Given the description of an element on the screen output the (x, y) to click on. 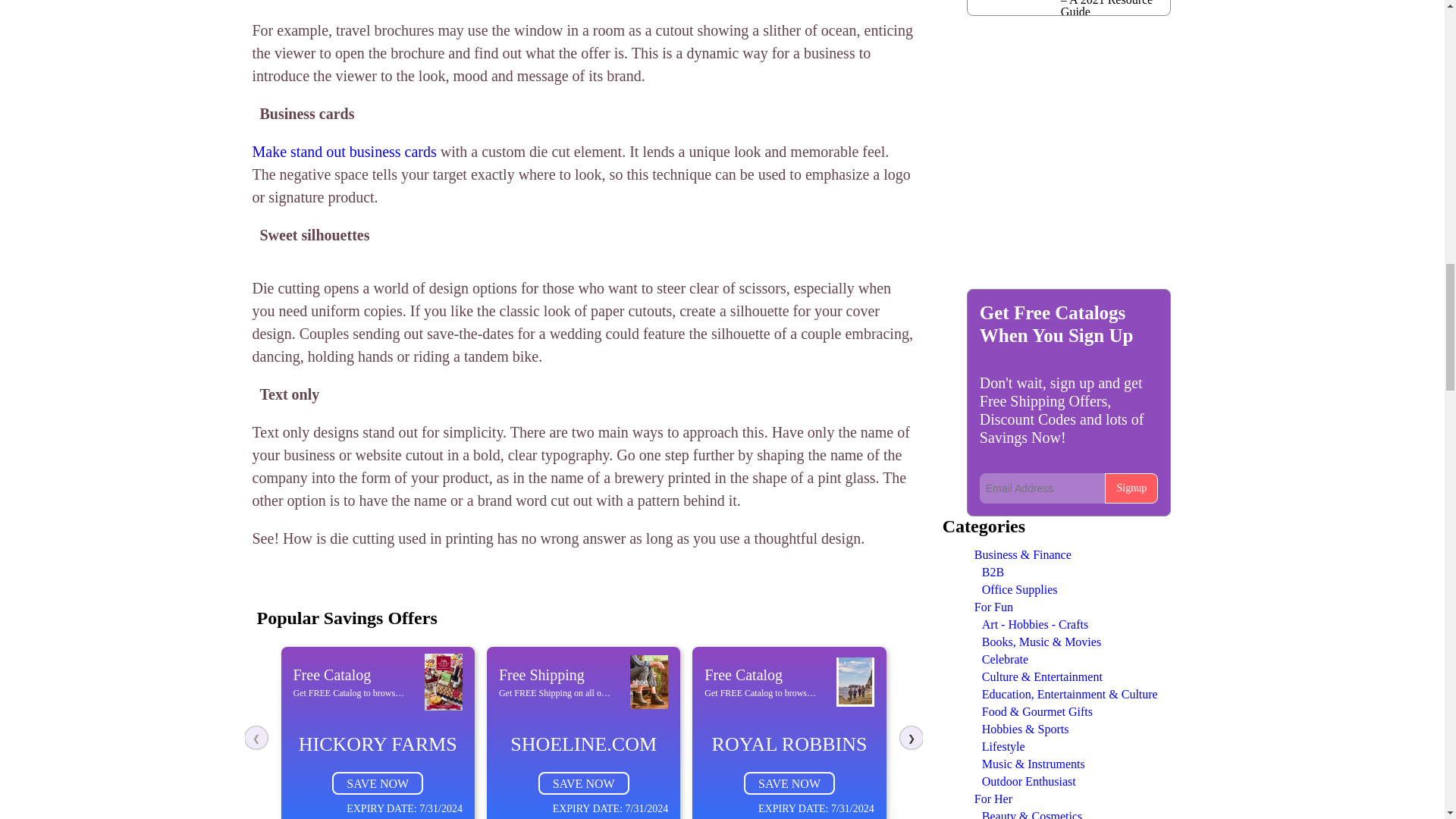
design tips for business cards (343, 151)
